Given the description of an element on the screen output the (x, y) to click on. 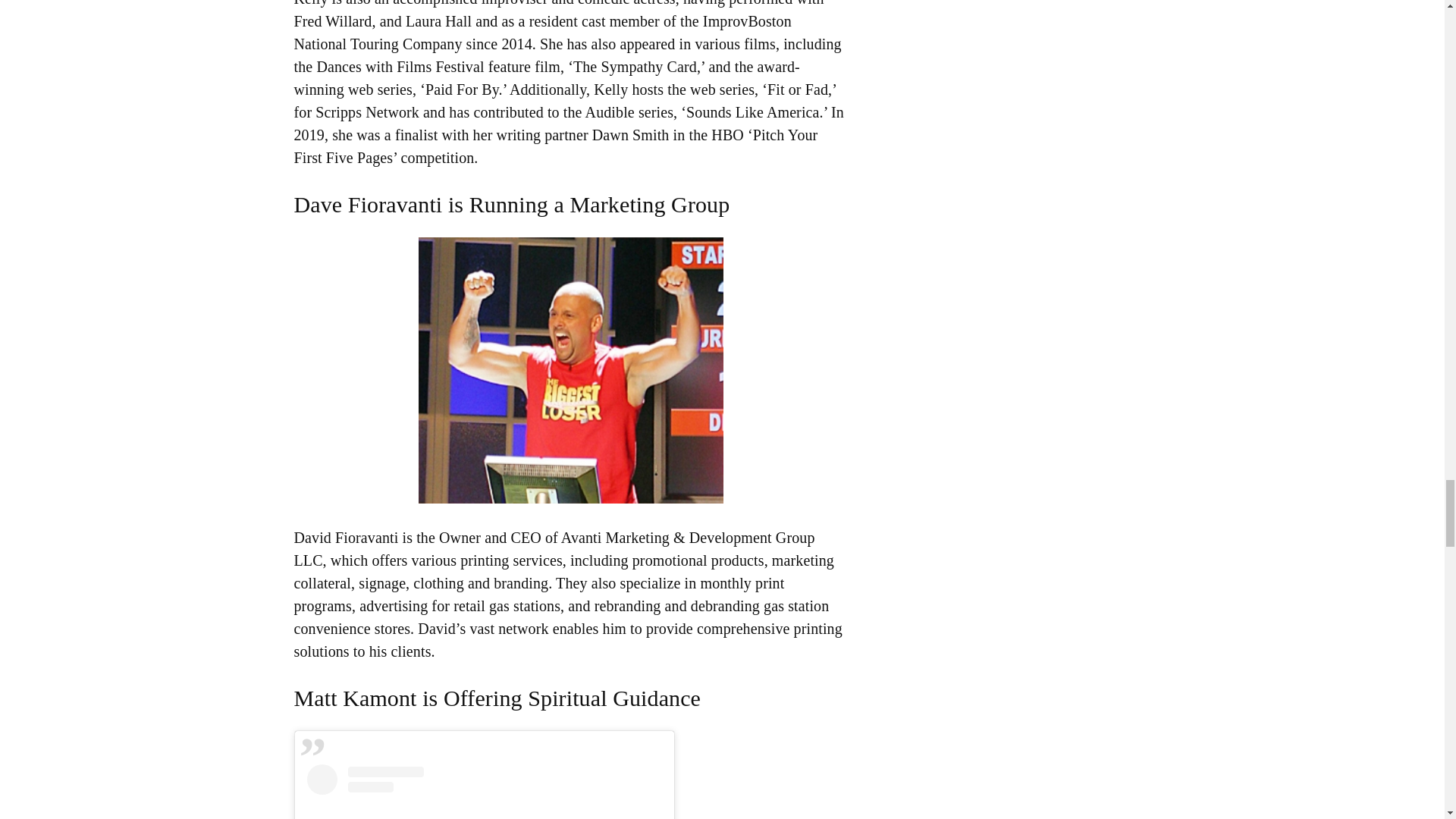
View this post on Instagram (483, 791)
